Given the description of an element on the screen output the (x, y) to click on. 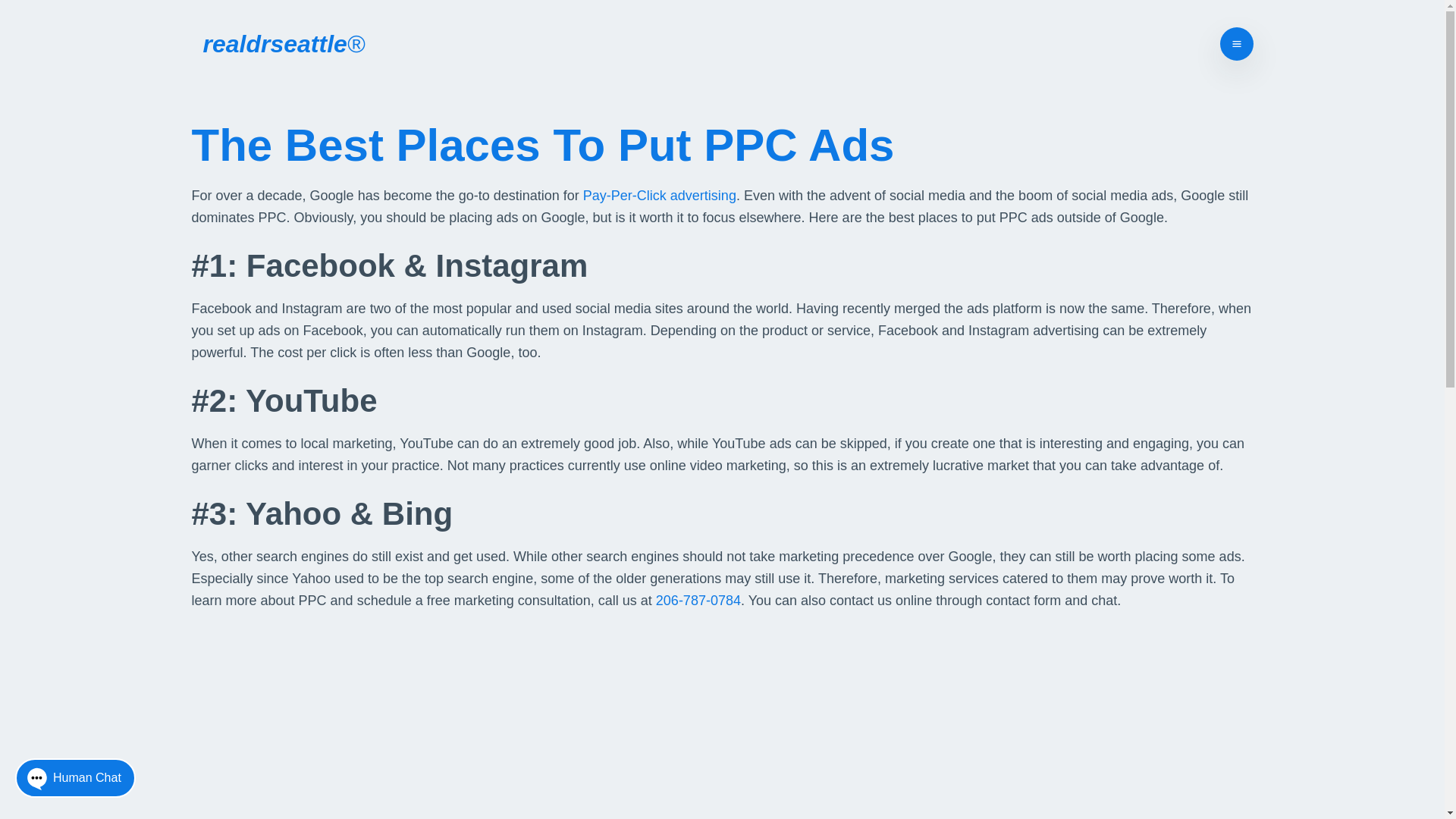
206-787-0784 (698, 600)
Pay-Per-Click advertising (659, 195)
